Given the description of an element on the screen output the (x, y) to click on. 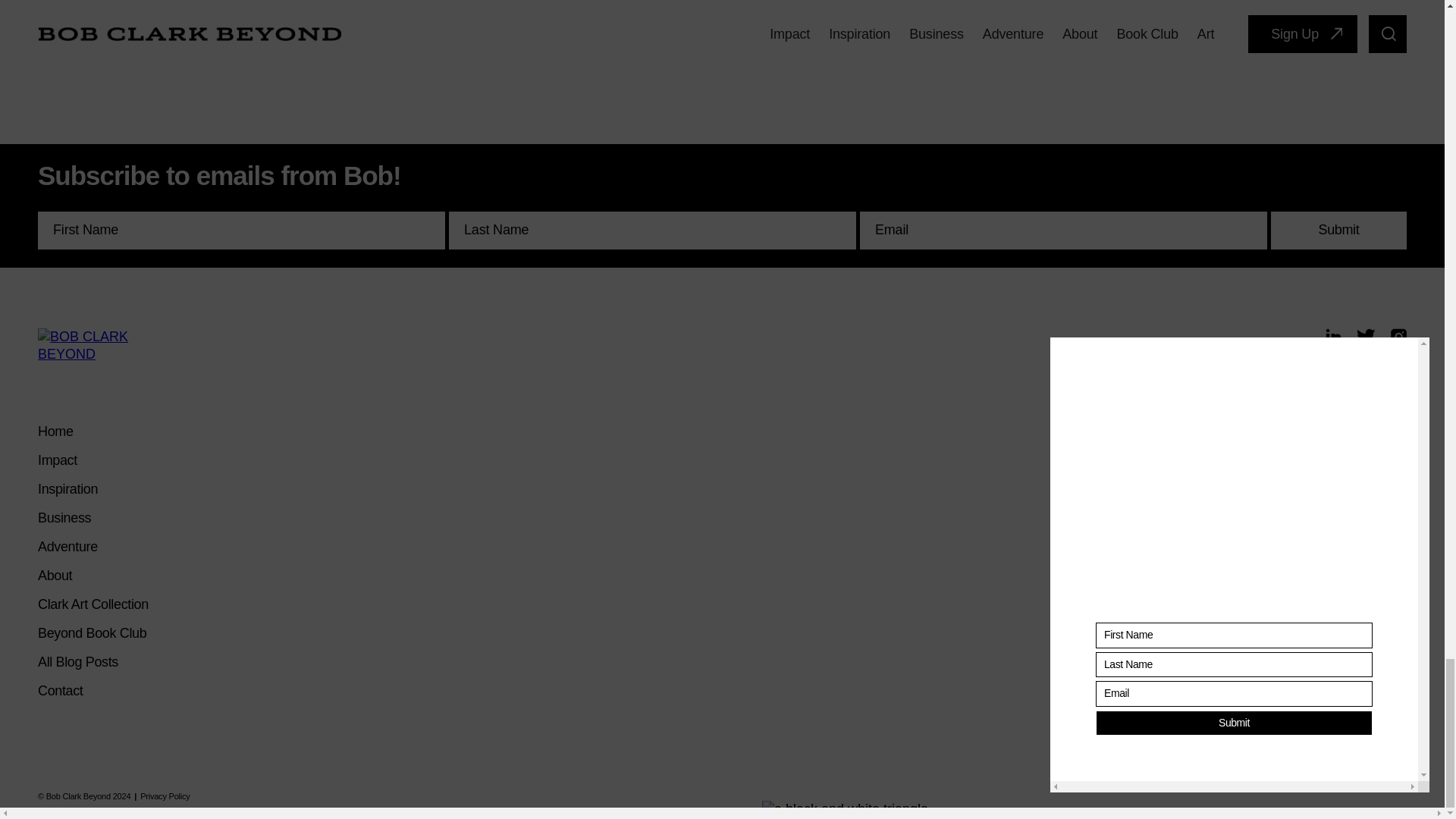
Home (55, 431)
Submit (1338, 230)
Submit (1338, 230)
